Given the description of an element on the screen output the (x, y) to click on. 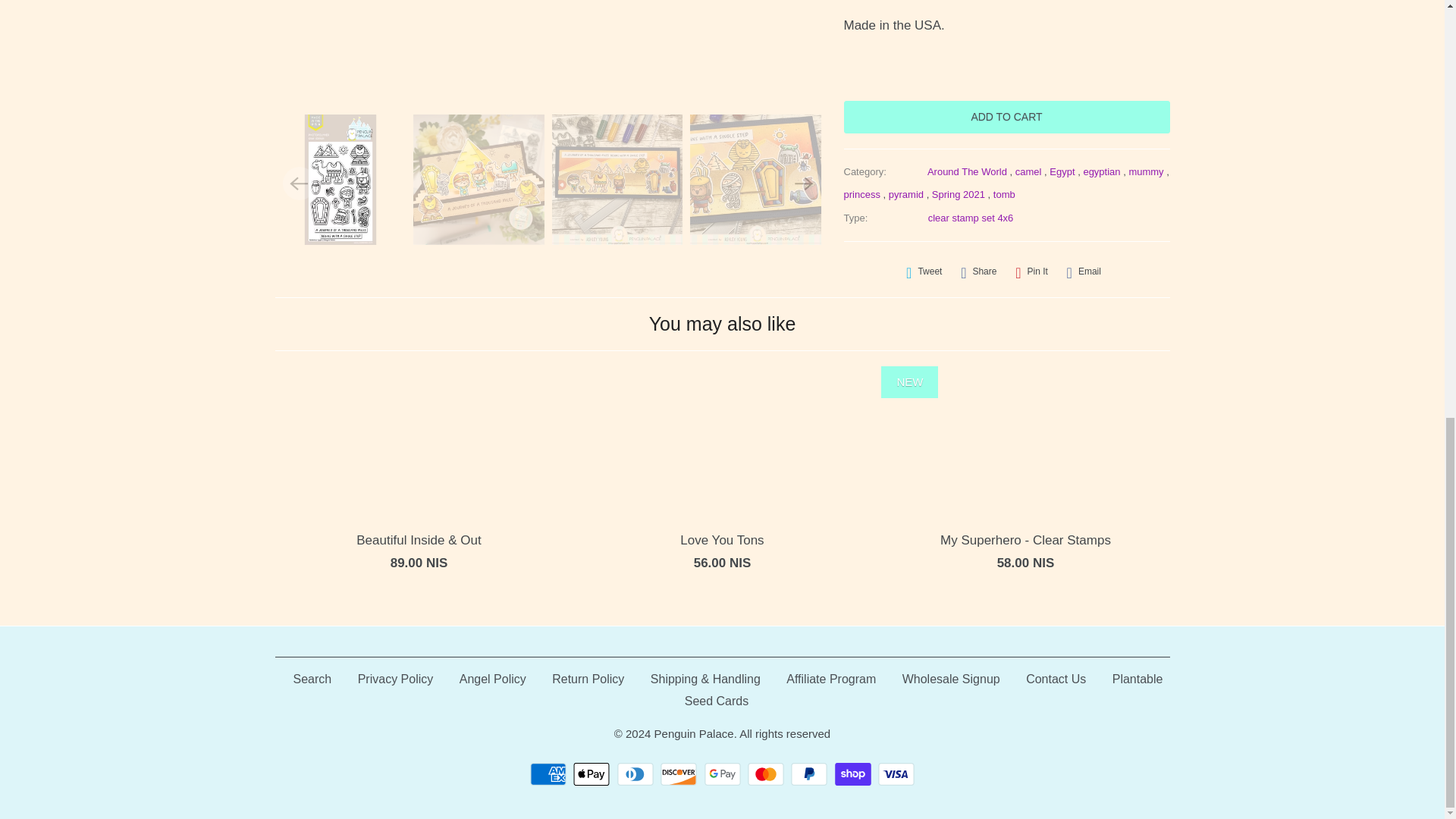
Discover (680, 773)
PayPal (810, 773)
Diners Club (637, 773)
Shop Pay (854, 773)
Mysterious Egypt (552, 49)
American Express (549, 773)
Visa (895, 773)
Apple Pay (592, 773)
Mastercard (767, 773)
Google Pay (723, 773)
